Given the description of an element on the screen output the (x, y) to click on. 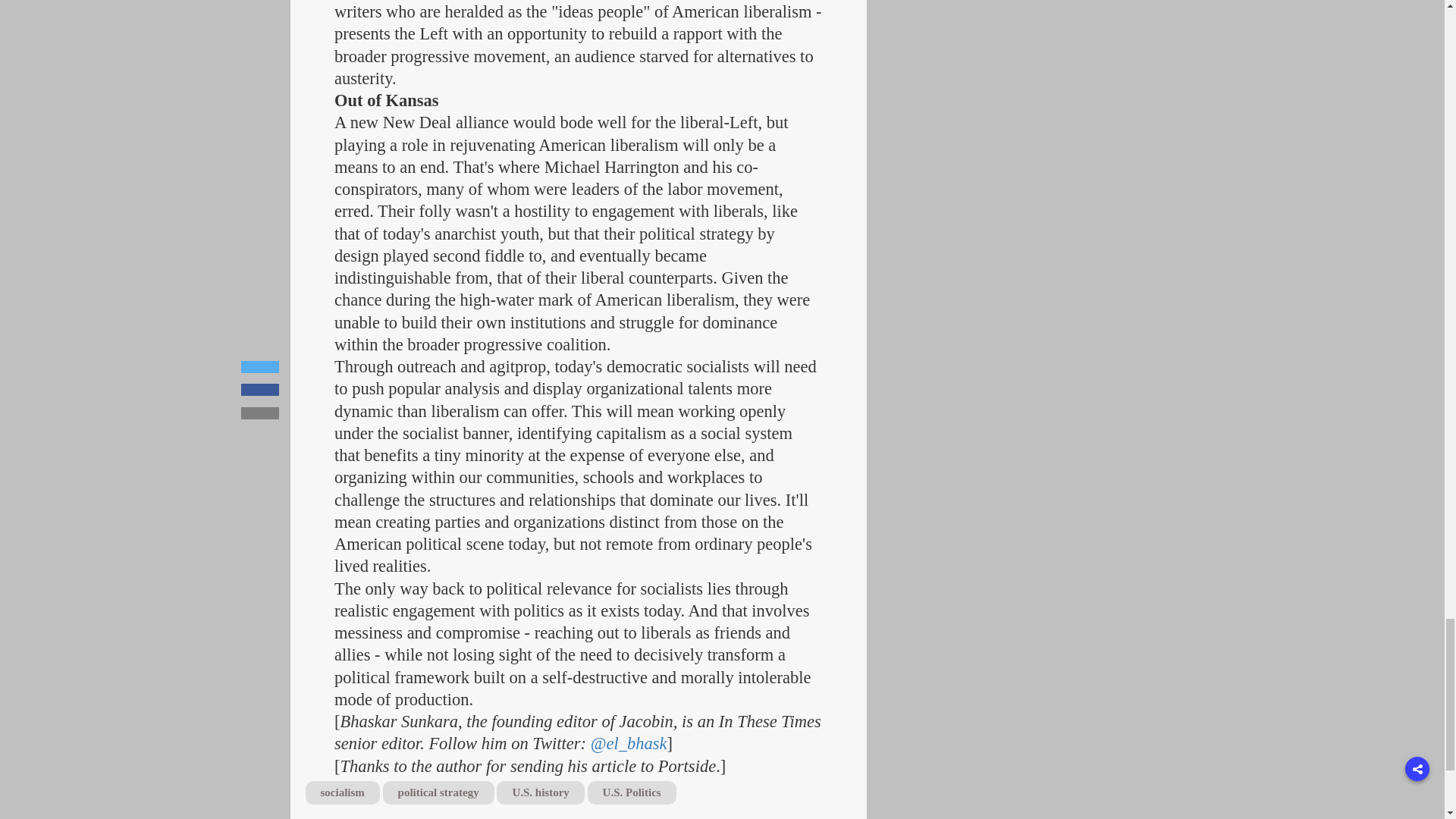
socialism (341, 792)
U.S. Politics (632, 792)
U.S. history (539, 792)
political strategy (438, 792)
